Given the description of an element on the screen output the (x, y) to click on. 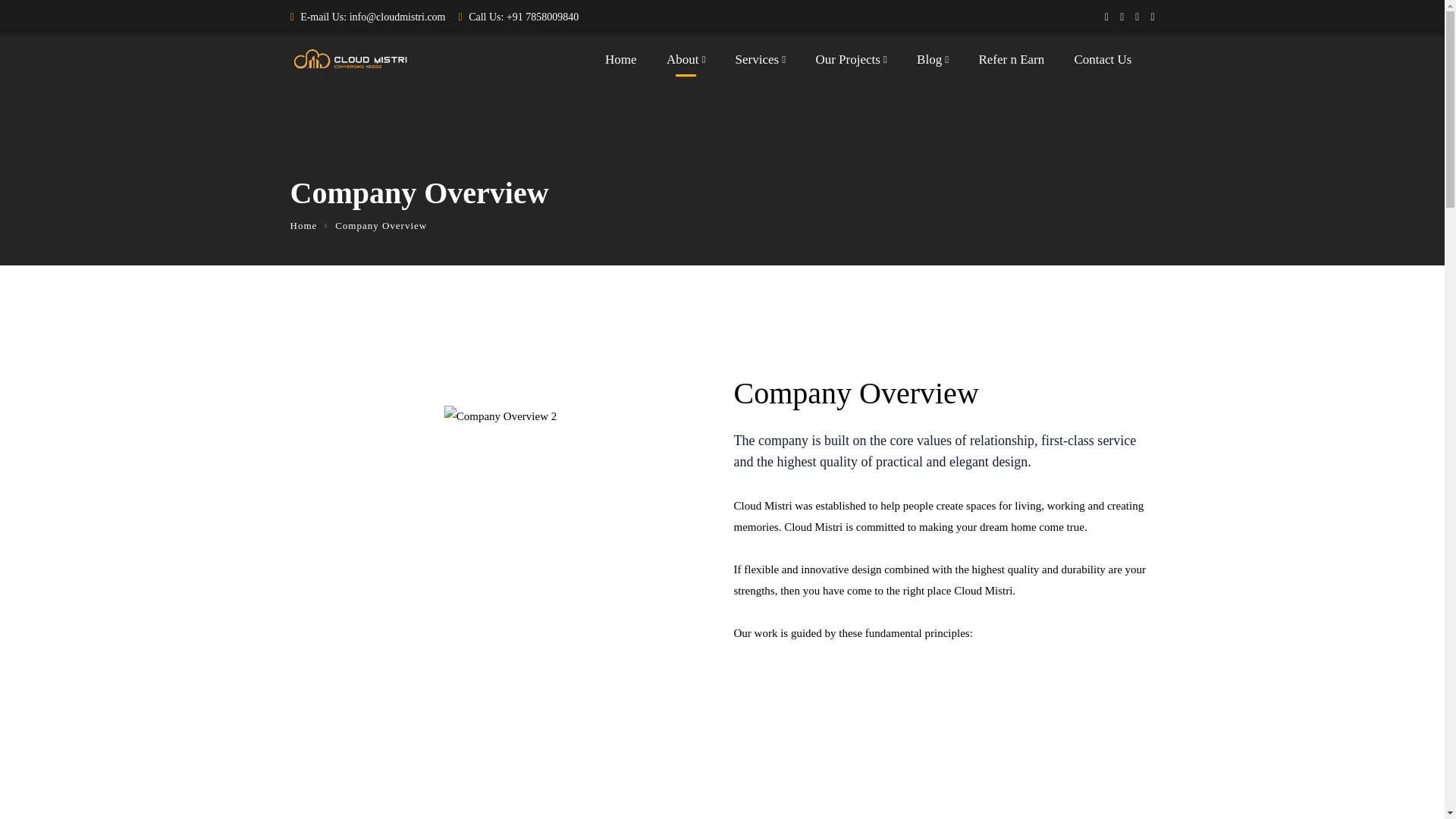
Services (760, 62)
Refer n Earn (1010, 62)
Home (303, 225)
Home (621, 62)
About (685, 62)
Our Projects (850, 62)
Blog (933, 62)
Contact Us (1102, 62)
Company Overview 1 (500, 415)
